Given the description of an element on the screen output the (x, y) to click on. 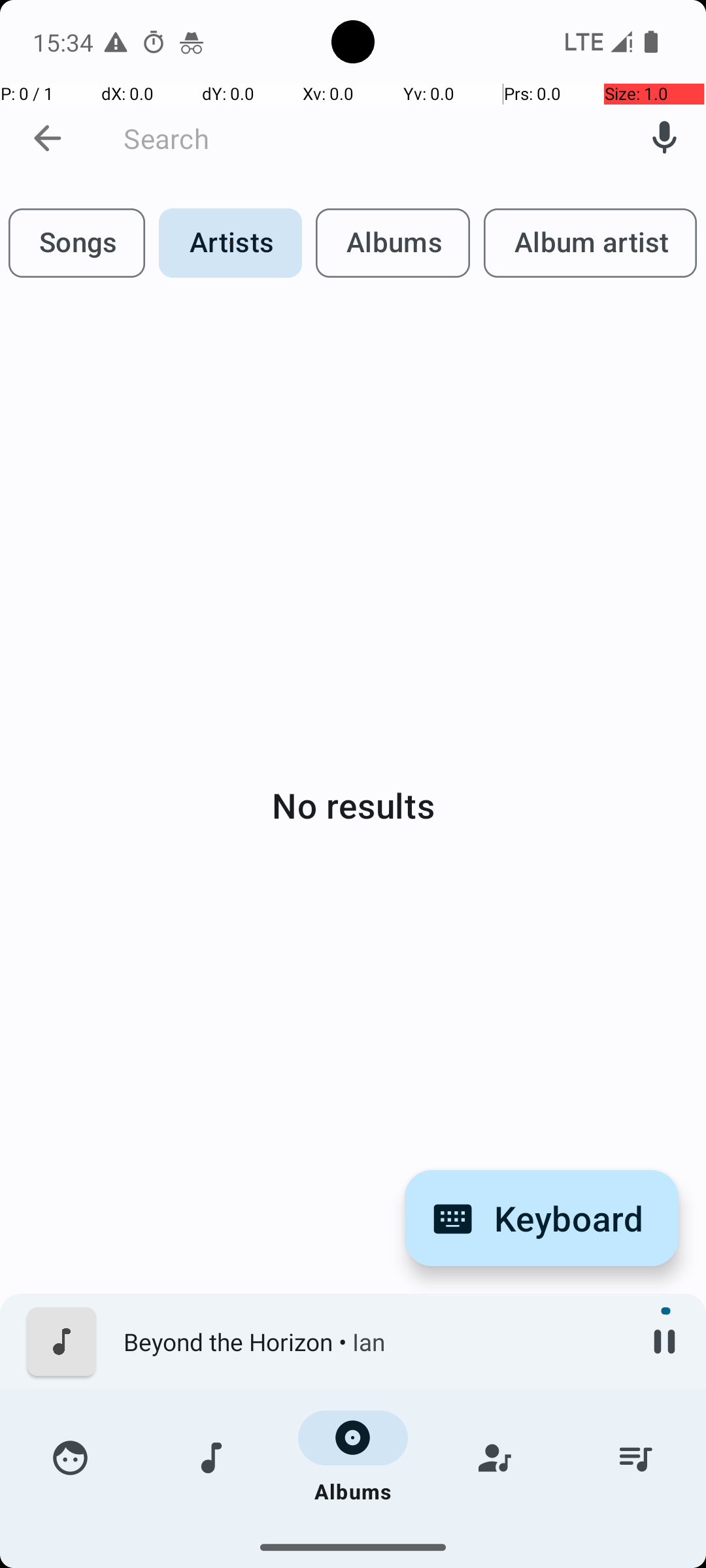
No results Element type: android.widget.TextView (352, 805)
Keyboard Element type: android.widget.Button (541, 1218)
Beyond the Horizon • Ian Element type: android.widget.TextView (372, 1341)
Album artist Element type: android.widget.RadioButton (589, 242)
